Given the description of an element on the screen output the (x, y) to click on. 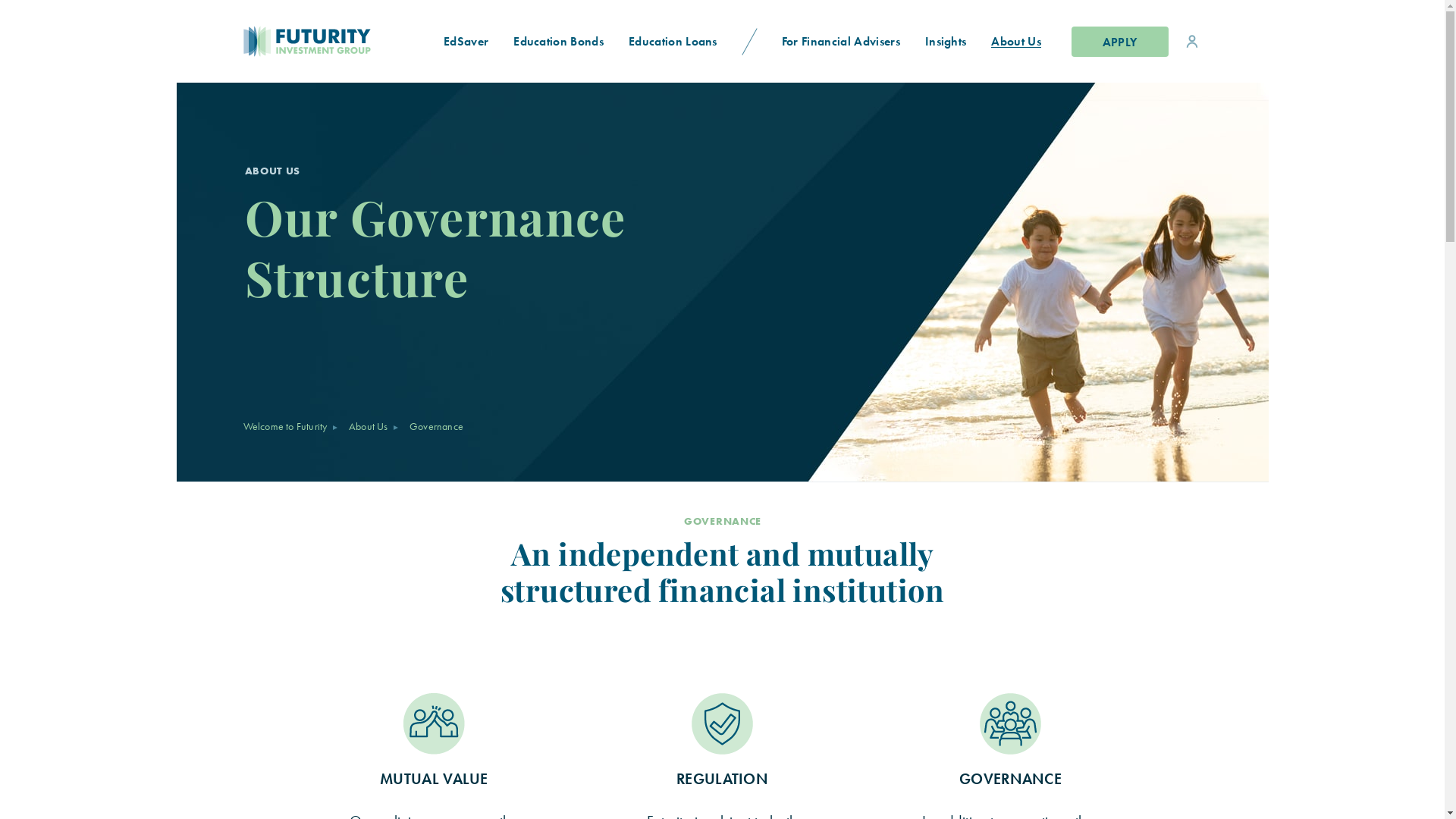
Education Bonds Element type: text (558, 40)
About Us Element type: text (1016, 40)
APPLY Element type: text (1118, 40)
For Financial Advisers Element type: text (840, 40)
EdSaver Element type: text (465, 40)
Welcome to Futurity Element type: text (284, 426)
About Us Element type: text (368, 426)
Insights Element type: text (945, 40)
Education Loans Element type: text (673, 40)
Futurity | Investment Group Element type: hover (255, 41)
